Given the description of an element on the screen output the (x, y) to click on. 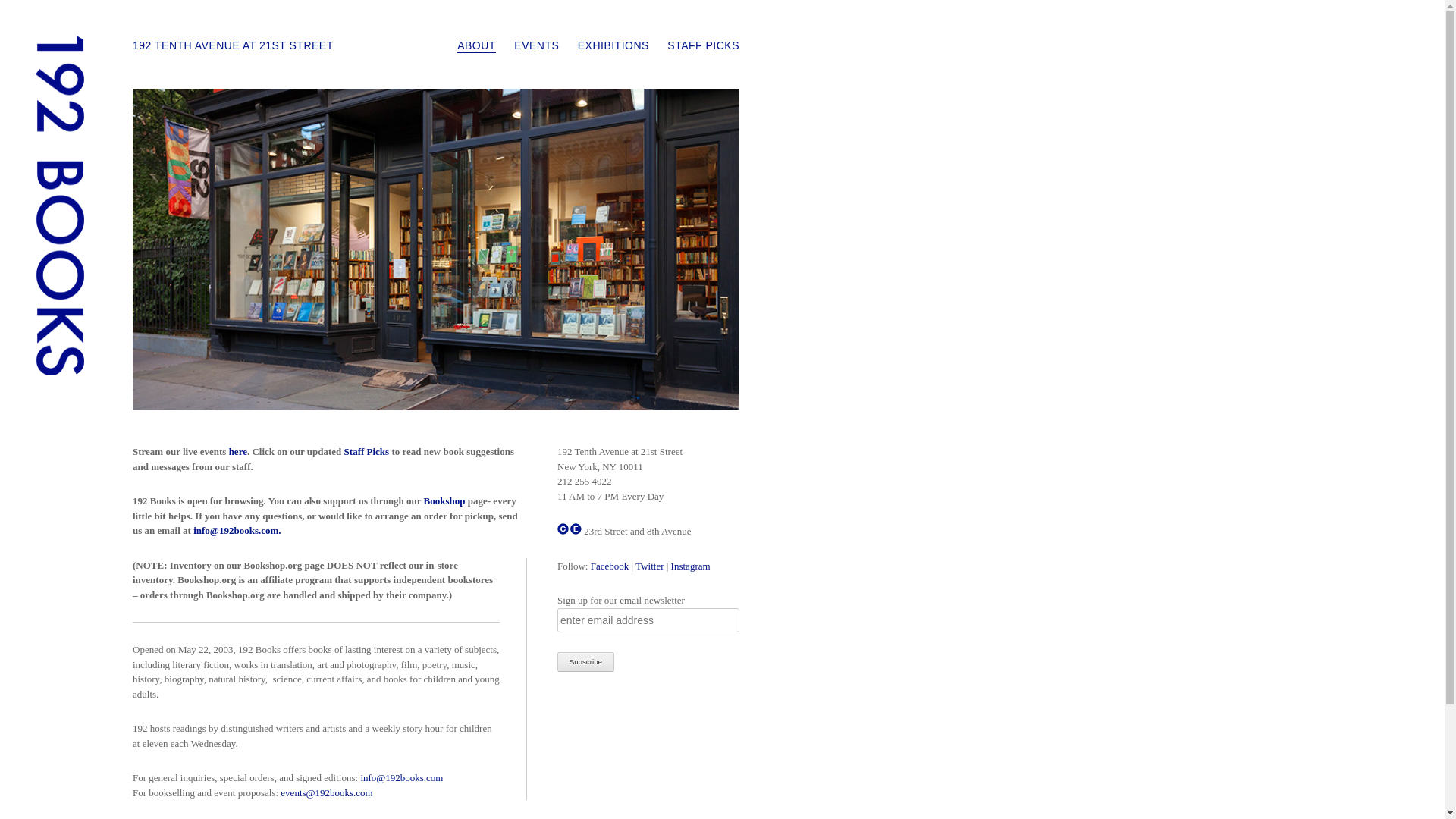
Subscribe Element type: text (585, 661)
Staff Picks Element type: text (366, 451)
EXHIBITIONS Element type: text (613, 45)
Twitter Element type: text (649, 565)
Bookshop Element type: text (444, 500)
events@192books.com Element type: text (326, 792)
192 TENTH AVENUE AT 21ST STREET Element type: text (232, 45)
Skip to content Element type: text (492, 48)
info@192books.com.  Element type: text (238, 530)
EVENTS Element type: text (536, 45)
here Element type: text (238, 451)
STAFF PICKS Element type: text (703, 45)
Instagram Element type: text (690, 565)
info@192books.com Element type: text (401, 777)
ABOUT Element type: text (476, 45)
Facebook Element type: text (609, 565)
